Given the description of an element on the screen output the (x, y) to click on. 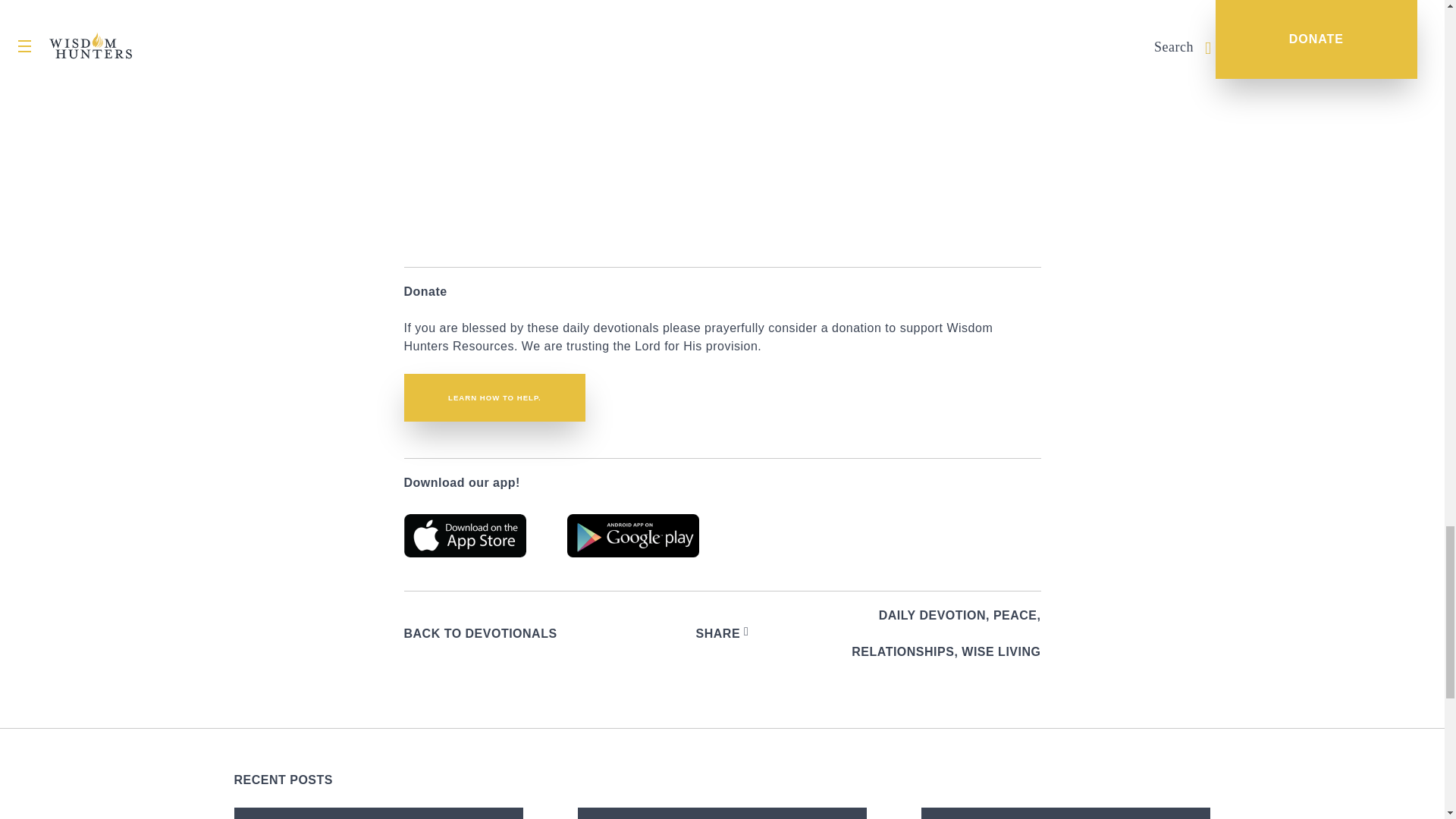
Permalink to: Source of Joy (377, 813)
PEACE (1014, 615)
DAILY DEVOTION (932, 615)
Permalink to: The Middle Miles (722, 813)
SHARE (722, 633)
BACK TO DEVOTIONALS (479, 633)
Permalink to: Touch His Garments (1065, 813)
LEARN HOW TO HELP. (494, 397)
